Given the description of an element on the screen output the (x, y) to click on. 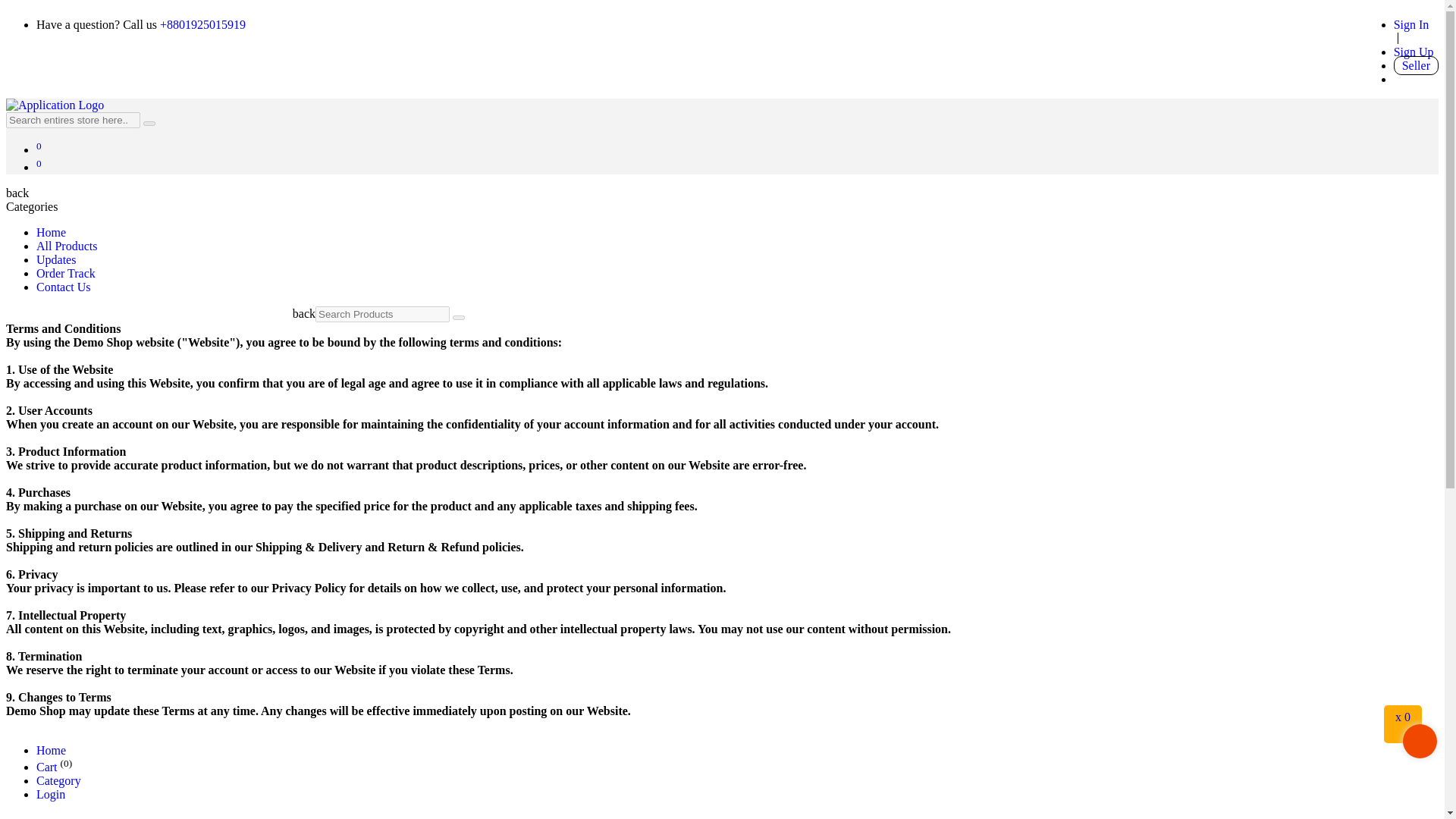
Order Track (66, 273)
Sign In (1411, 24)
Login (50, 793)
All Products (66, 245)
Cart (47, 766)
x 0 (1403, 714)
0 (39, 166)
Home (50, 749)
0 (39, 149)
Home (50, 232)
Updates (55, 259)
Category (58, 780)
Contact Us (63, 286)
